Given the description of an element on the screen output the (x, y) to click on. 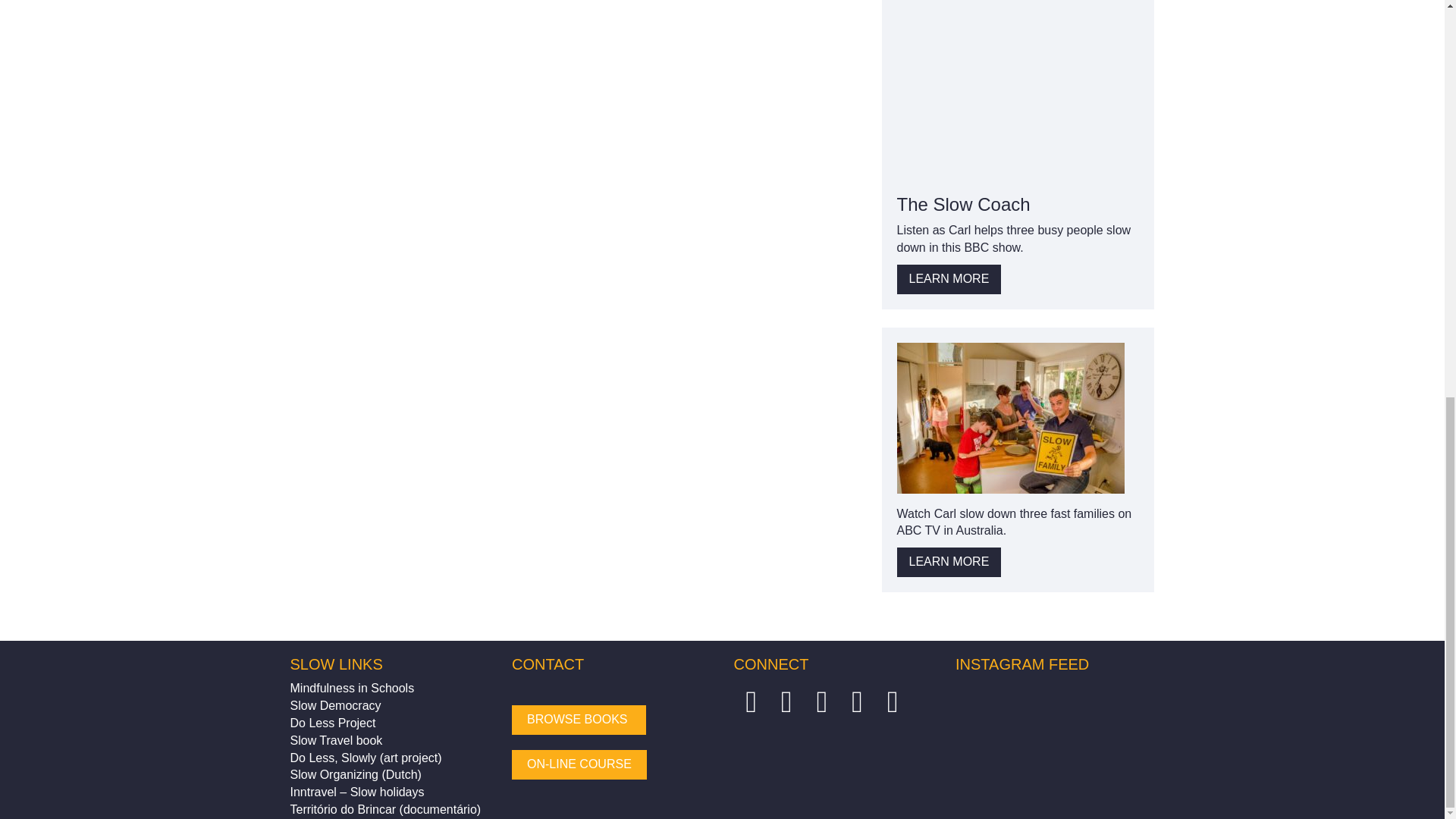
BROWSE BOOKS  (579, 719)
Slow Travel book (335, 739)
Slow Democracy (334, 705)
LEARN MORE (948, 562)
ON-LINE COURSE (579, 764)
LEARN MORE (948, 279)
SLOW LINKS (335, 664)
Do Less Project (332, 722)
CONTACT (547, 664)
Mindfulness in Schools (351, 687)
